Given the description of an element on the screen output the (x, y) to click on. 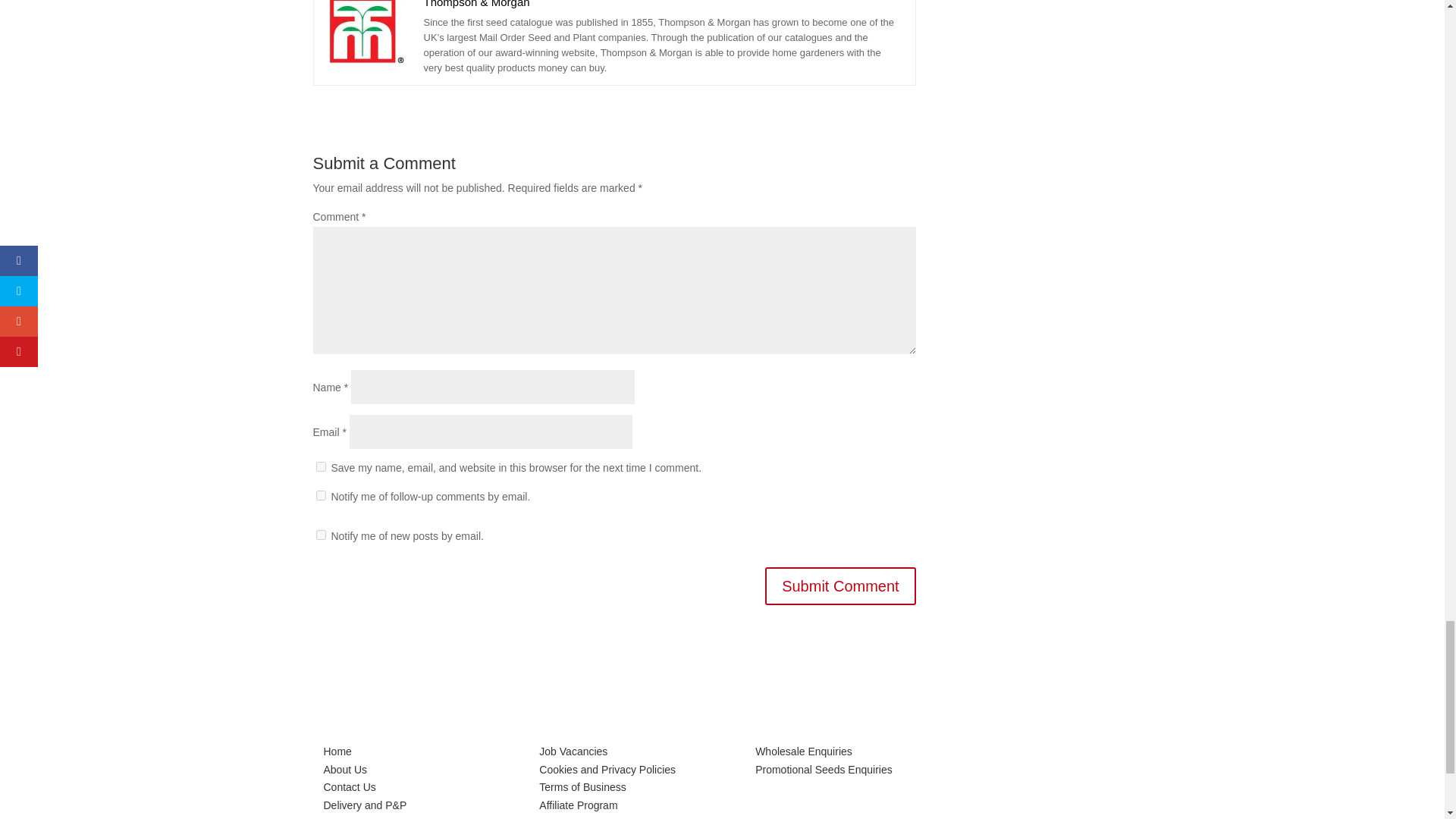
subscribe (319, 495)
yes (319, 466)
Submit Comment (840, 586)
Submit Comment (840, 586)
subscribe (319, 534)
